Given the description of an element on the screen output the (x, y) to click on. 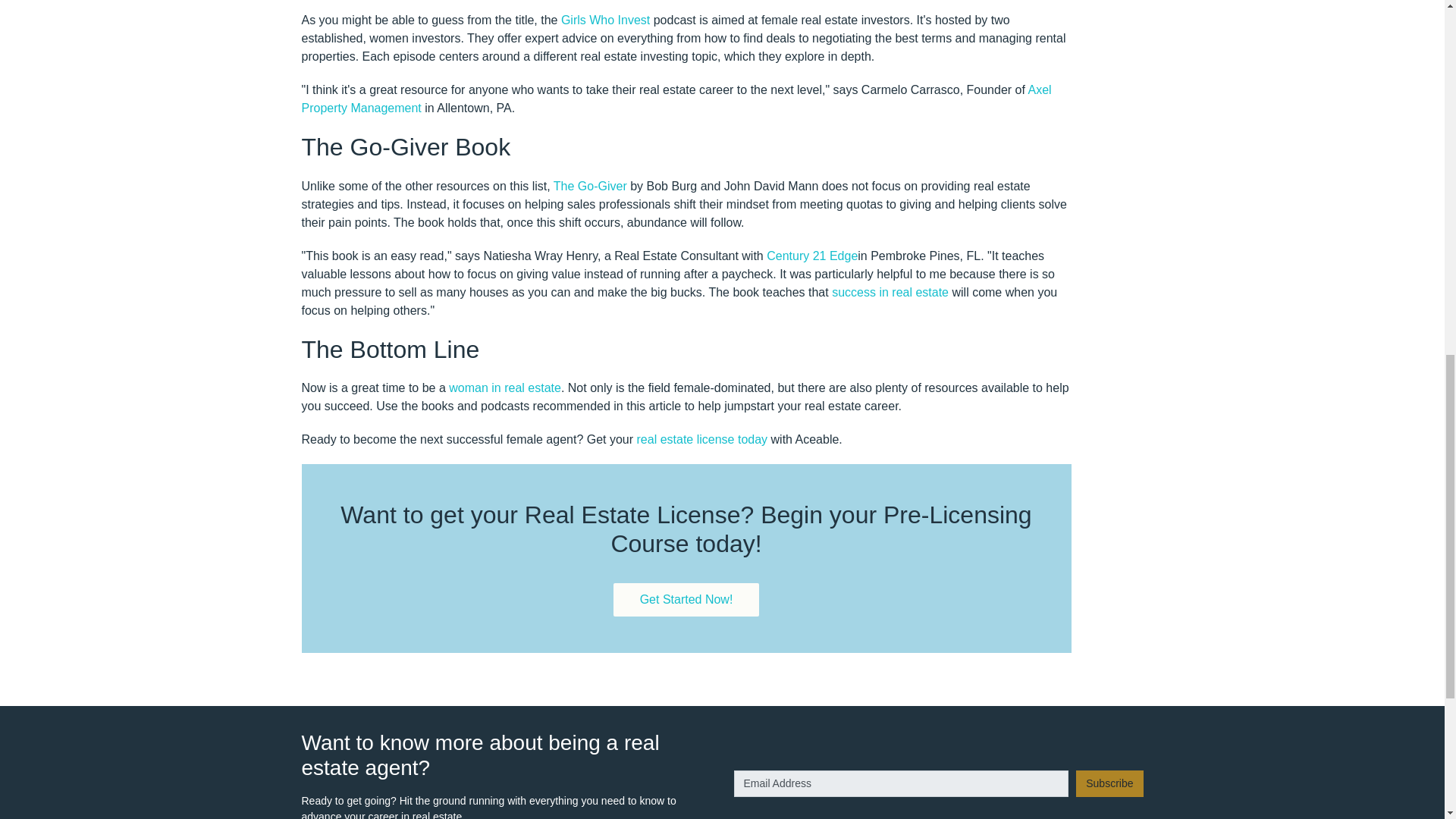
Axel Property Management (676, 98)
Email Address (900, 783)
The Go-Giver (590, 185)
woman in real estate (504, 387)
Century 21 Edge (812, 255)
Girls Who Invest (604, 19)
success in real estate (890, 291)
